Given the description of an element on the screen output the (x, y) to click on. 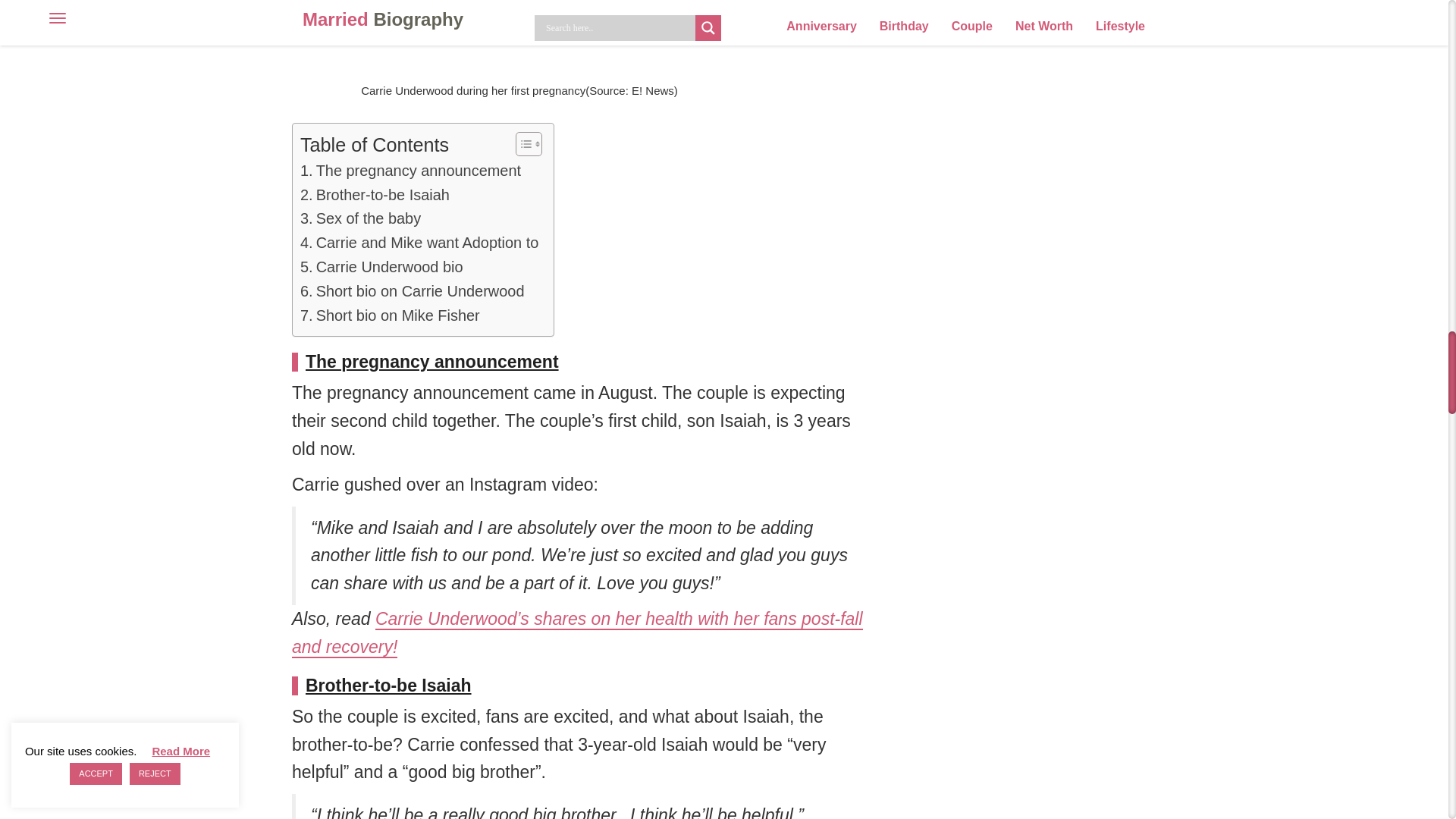
The pregnancy announcement (410, 170)
Sex of the baby (359, 218)
Brother-to-be Isaiah (374, 195)
